Given the description of an element on the screen output the (x, y) to click on. 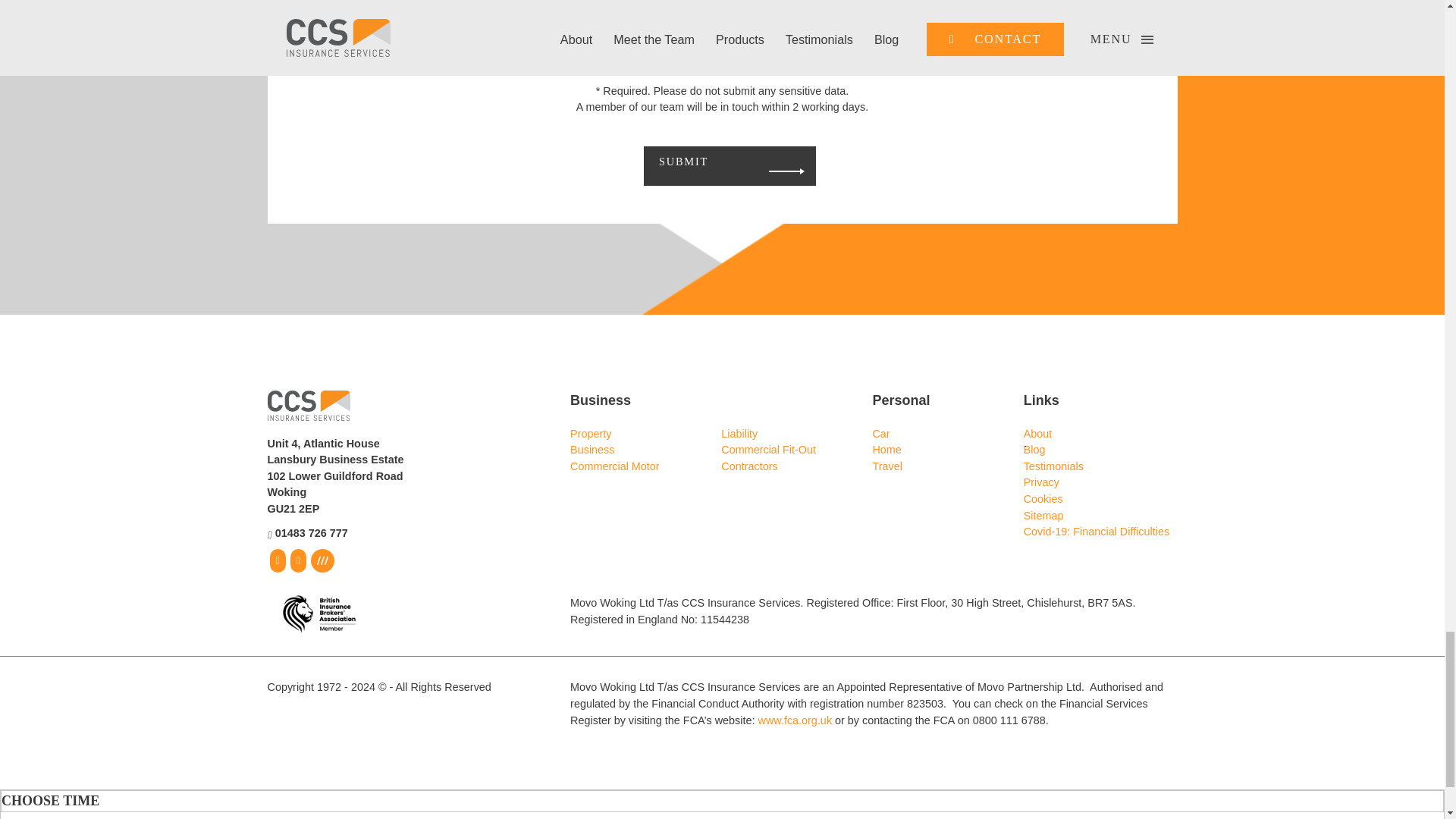
Follow us on LinkedIn (298, 559)
Submit (702, 162)
Biba (318, 614)
Follow us on What3Words (322, 560)
Biba (310, 614)
Follow us on Twitter (276, 559)
